Given the description of an element on the screen output the (x, y) to click on. 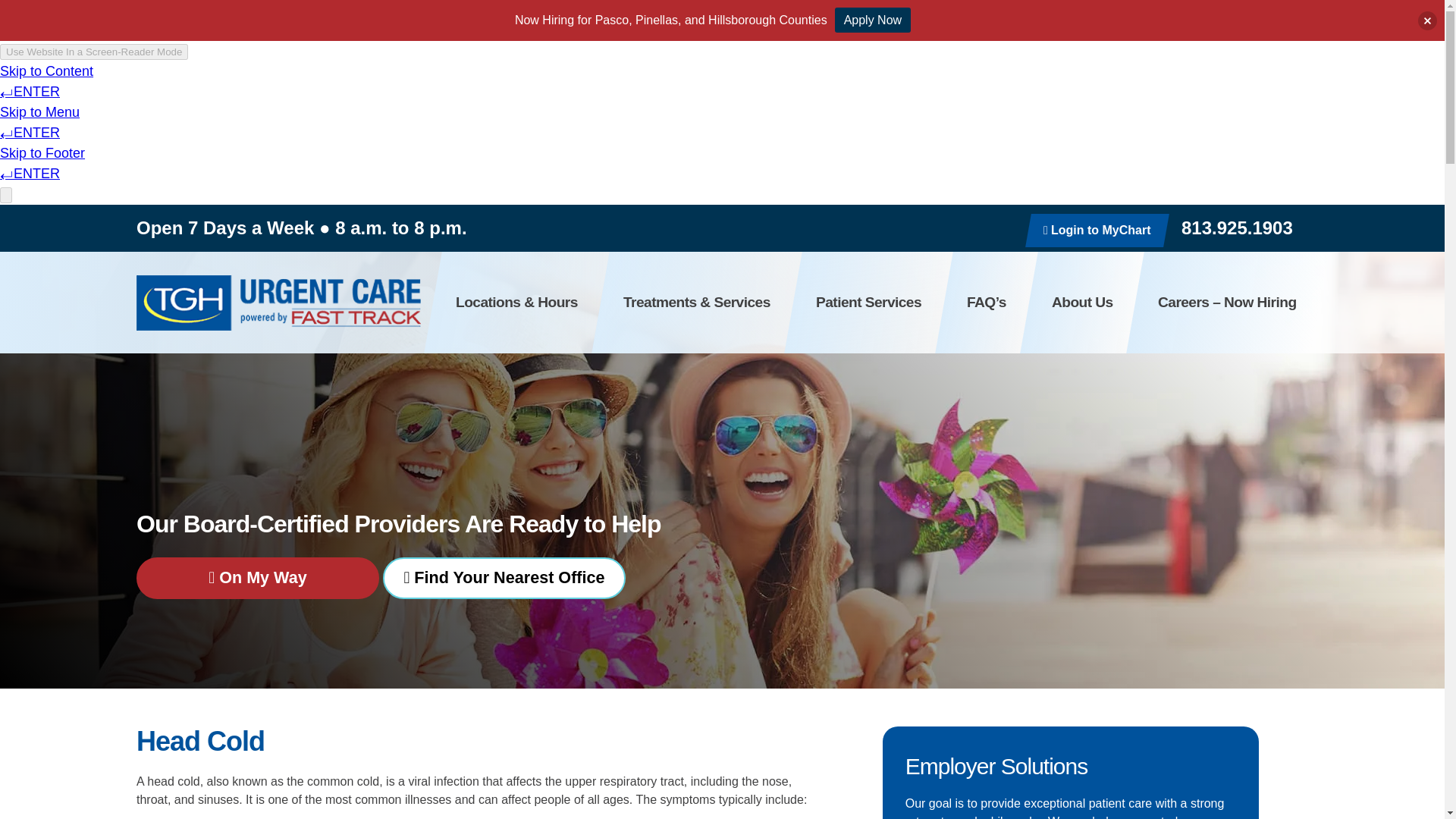
TGH Urgent Care powered by Fast Track (278, 302)
